Given the description of an element on the screen output the (x, y) to click on. 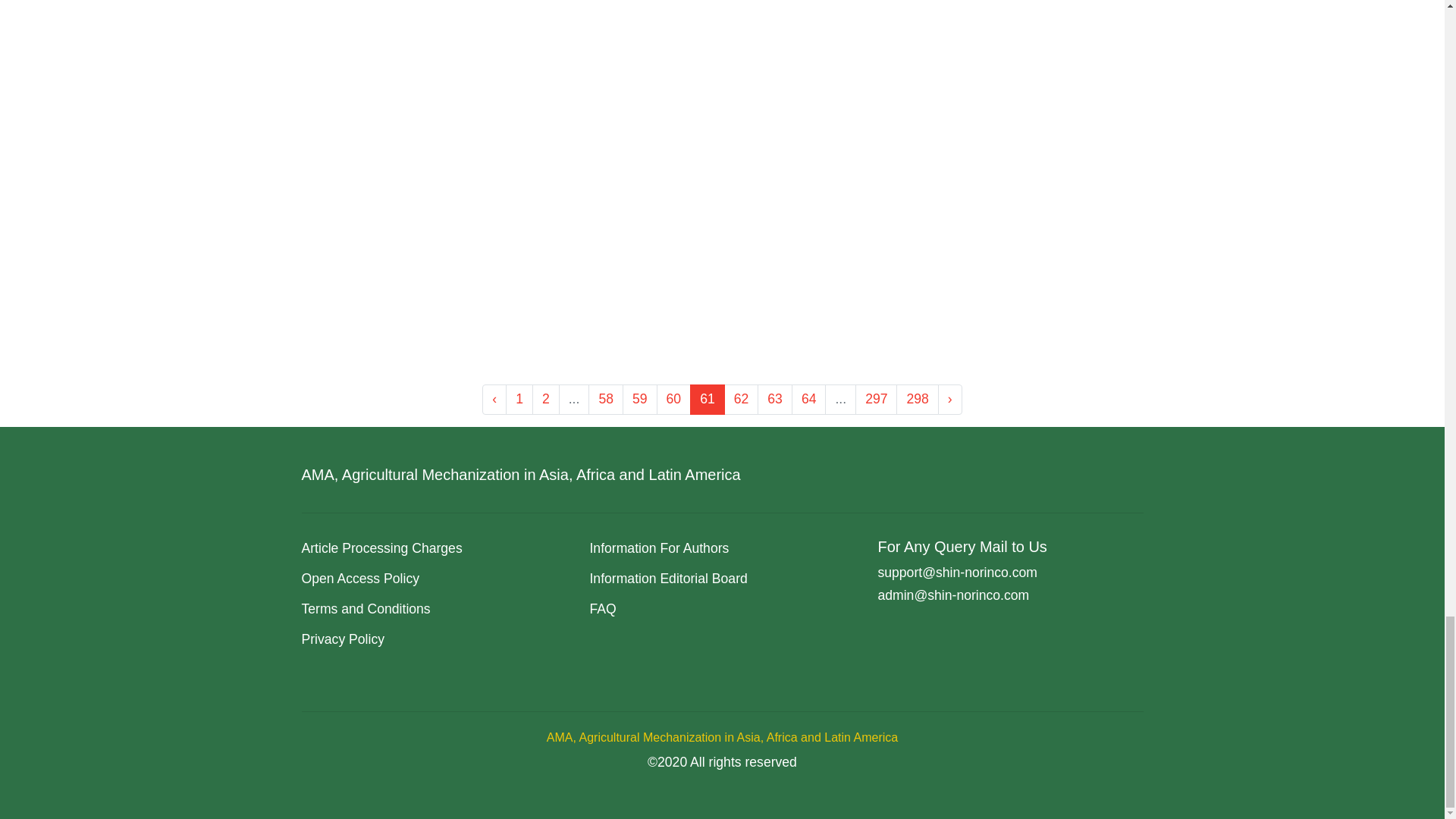
Faq (602, 608)
Information For Authors (659, 548)
Information Editorial Board (667, 578)
